Given the description of an element on the screen output the (x, y) to click on. 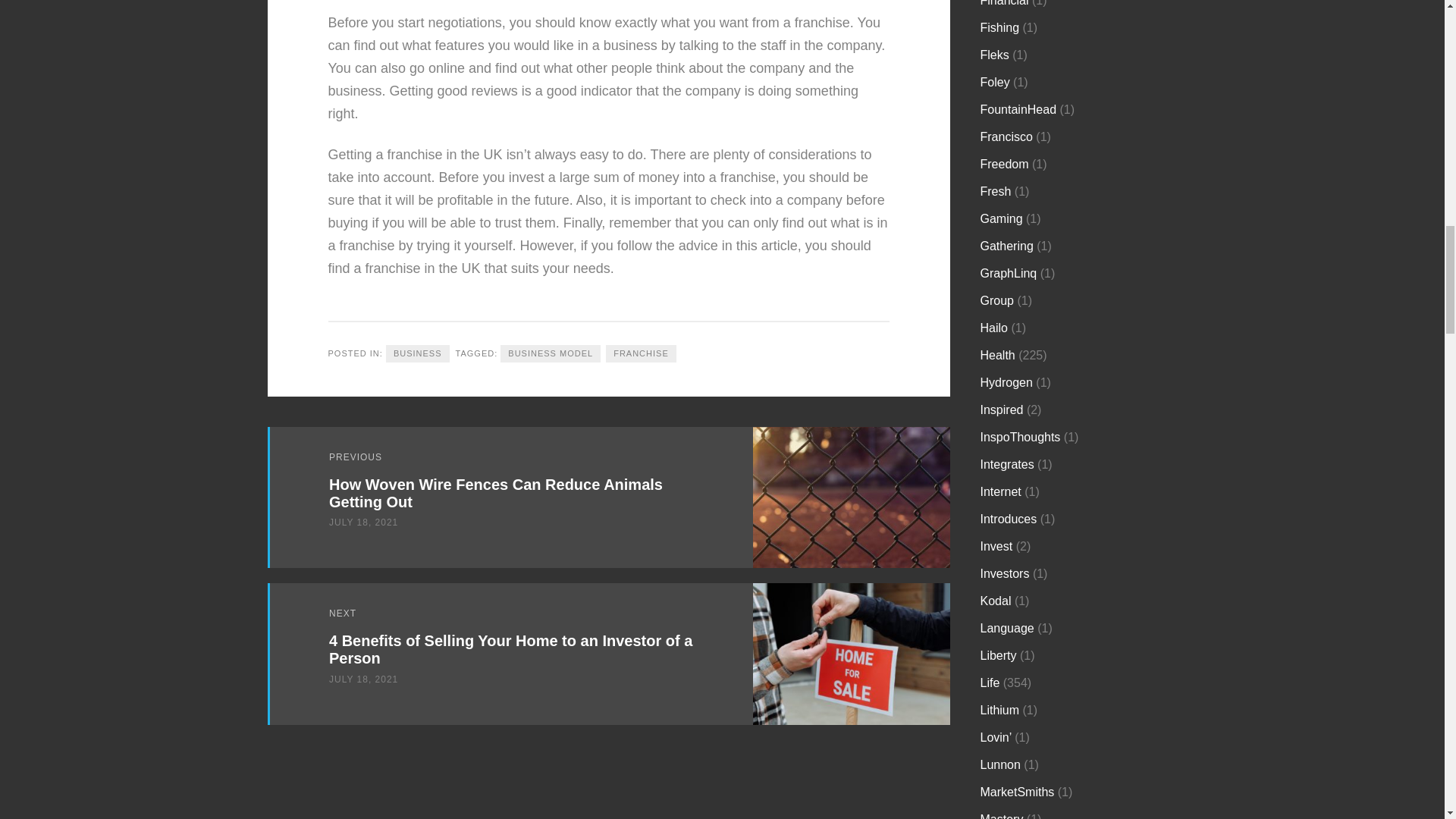
FRANCHISE (641, 353)
4 Benefits of Selling Your Home to an Investor of a Person (511, 649)
BUSINESS (417, 353)
How Woven Wire Fences Can Reduce Animals Getting Out (495, 492)
BUSINESS MODEL (549, 353)
